Given the description of an element on the screen output the (x, y) to click on. 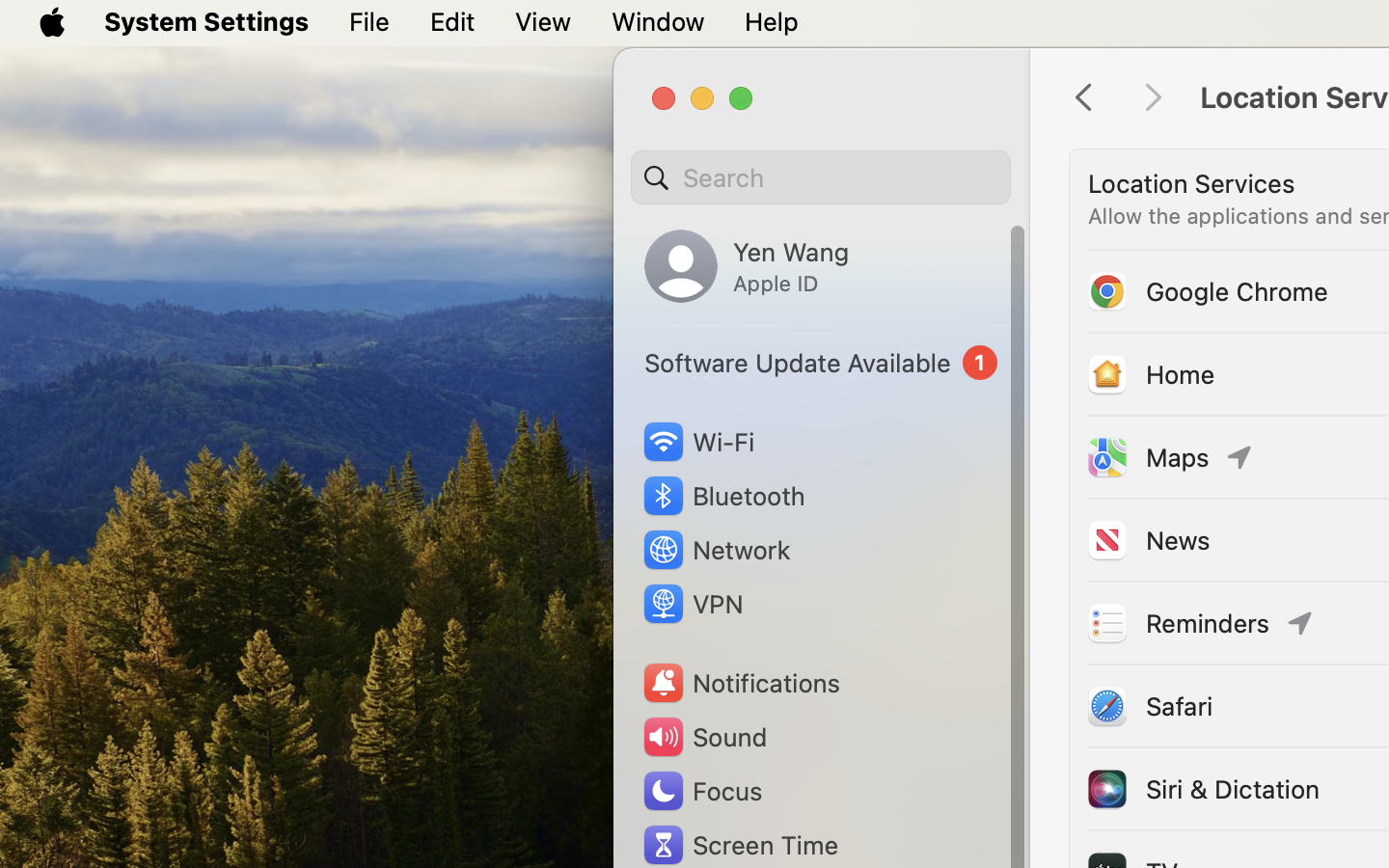
Screen Time Element type: AXStaticText (739, 844)
Google Chrome Element type: AXStaticText (1206, 291)
Reminders Element type: AXStaticText (1176, 622)
VPN Element type: AXStaticText (691, 603)
Focus Element type: AXStaticText (701, 790)
